Given the description of an element on the screen output the (x, y) to click on. 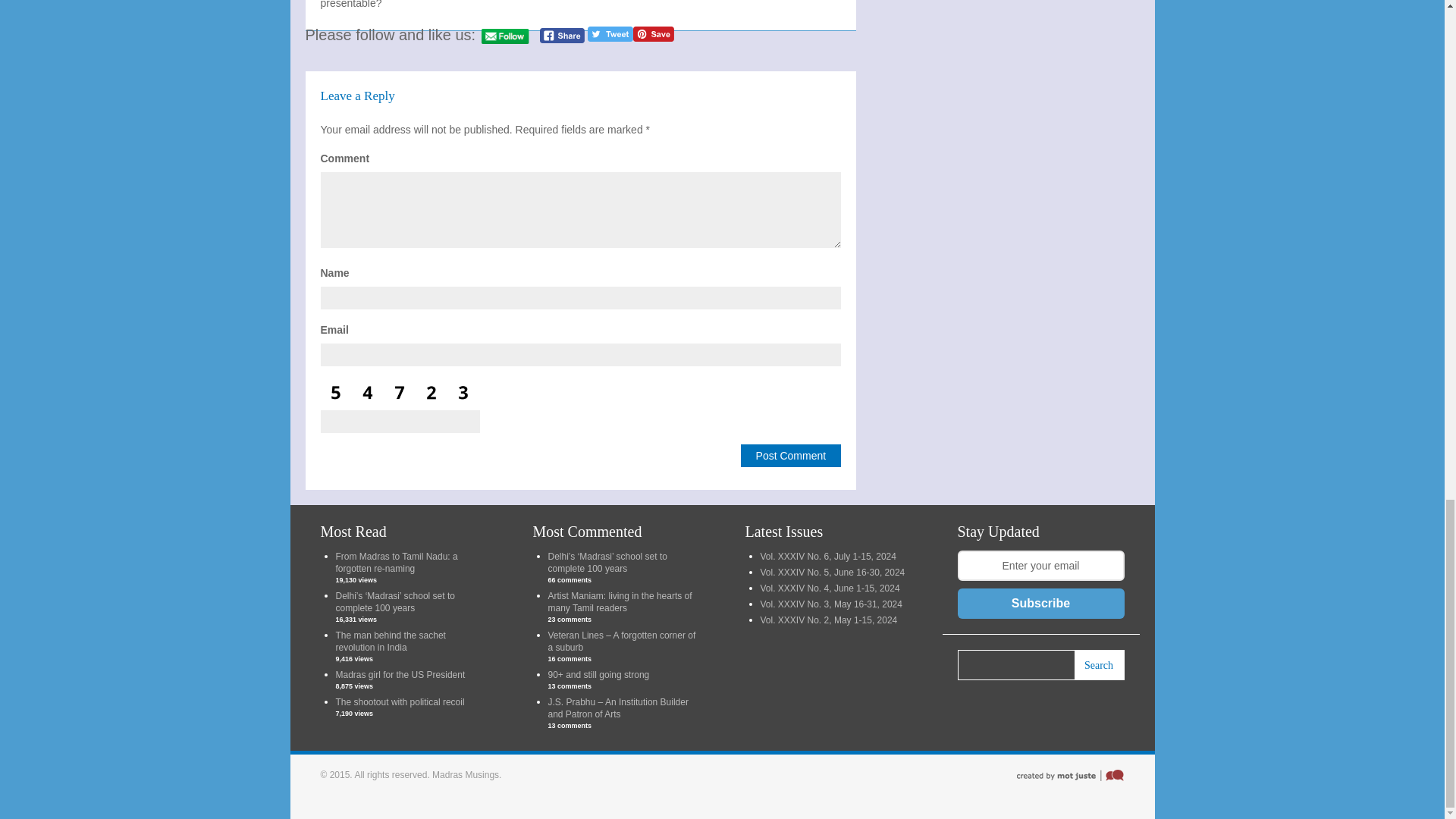
Search (1099, 665)
From Madras to Tamil Nadu: a forgotten re-naming (395, 562)
Search (1099, 665)
From Madras to Tamil Nadu: a forgotten re-naming (395, 562)
The shootout with political recoil (399, 701)
Post Comment (791, 455)
Pin Share (653, 33)
Tweet (610, 33)
The man behind the sachet revolution in India (389, 640)
Post Comment (791, 455)
Madras girl for the US President (399, 674)
Madras girl for the US President (399, 674)
The shootout with political recoil (399, 701)
The man behind the sachet revolution in India (389, 640)
Facebook Share (562, 35)
